Given the description of an element on the screen output the (x, y) to click on. 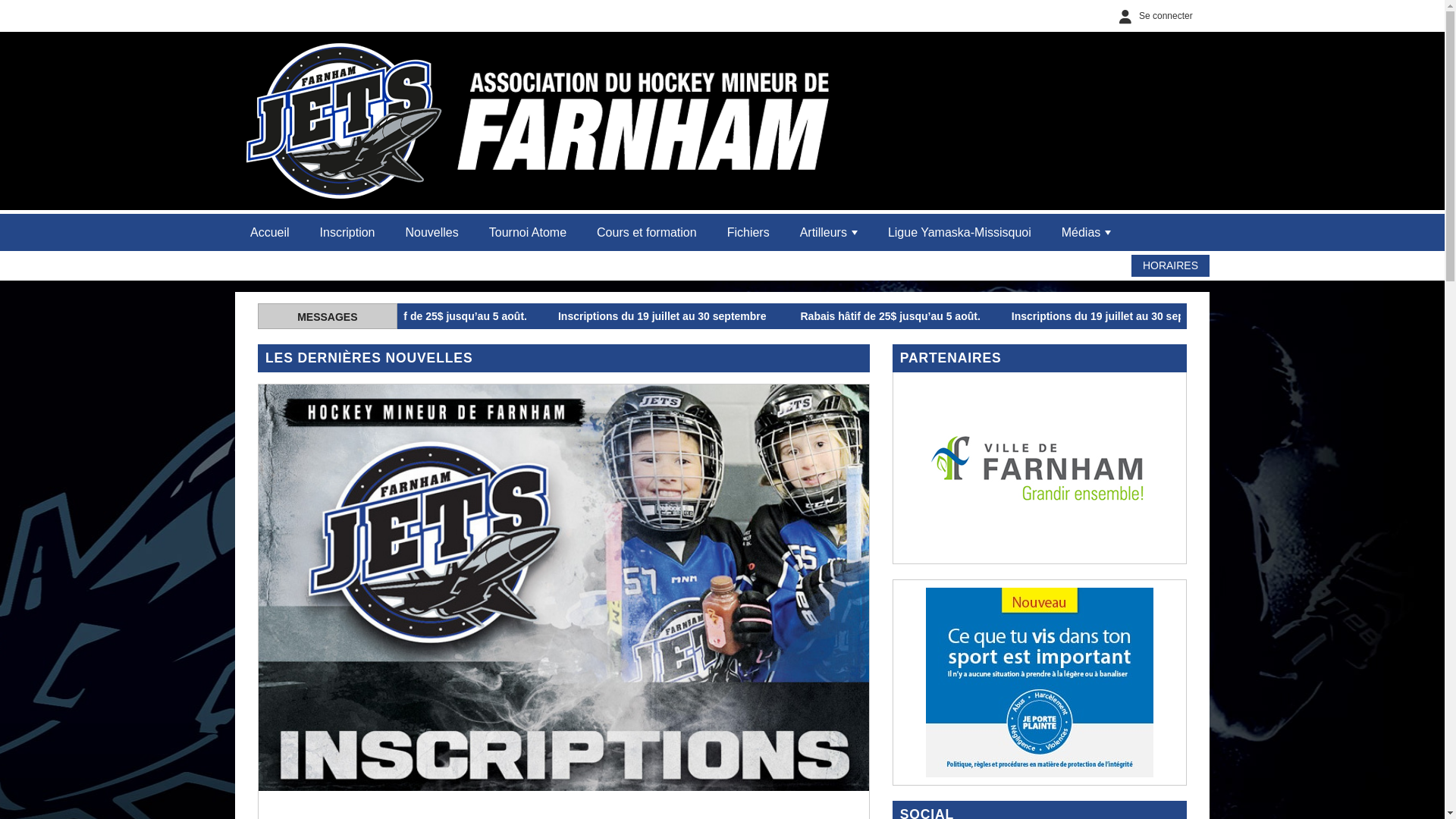
Nouvelles Element type: text (431, 232)
Fichiers Element type: text (748, 232)
Inscriptions du 19 juillet au 30 septembre Element type: text (816, 316)
Se connecter Element type: text (1152, 15)
Tournoi Atome Element type: text (527, 232)
HORAIRES Element type: text (1170, 265)
Artilleurs Element type: text (828, 232)
Ligue Yamaska-Missisquoi Element type: text (959, 232)
Inscriptions du 19 juillet au 30 septembre Element type: text (1267, 316)
Inscription Element type: text (347, 232)
Accueil Element type: text (269, 232)
Inscriptions du 19 juillet au 30 septembre Element type: text (365, 316)
Cours et formation Element type: text (646, 232)
